Given the description of an element on the screen output the (x, y) to click on. 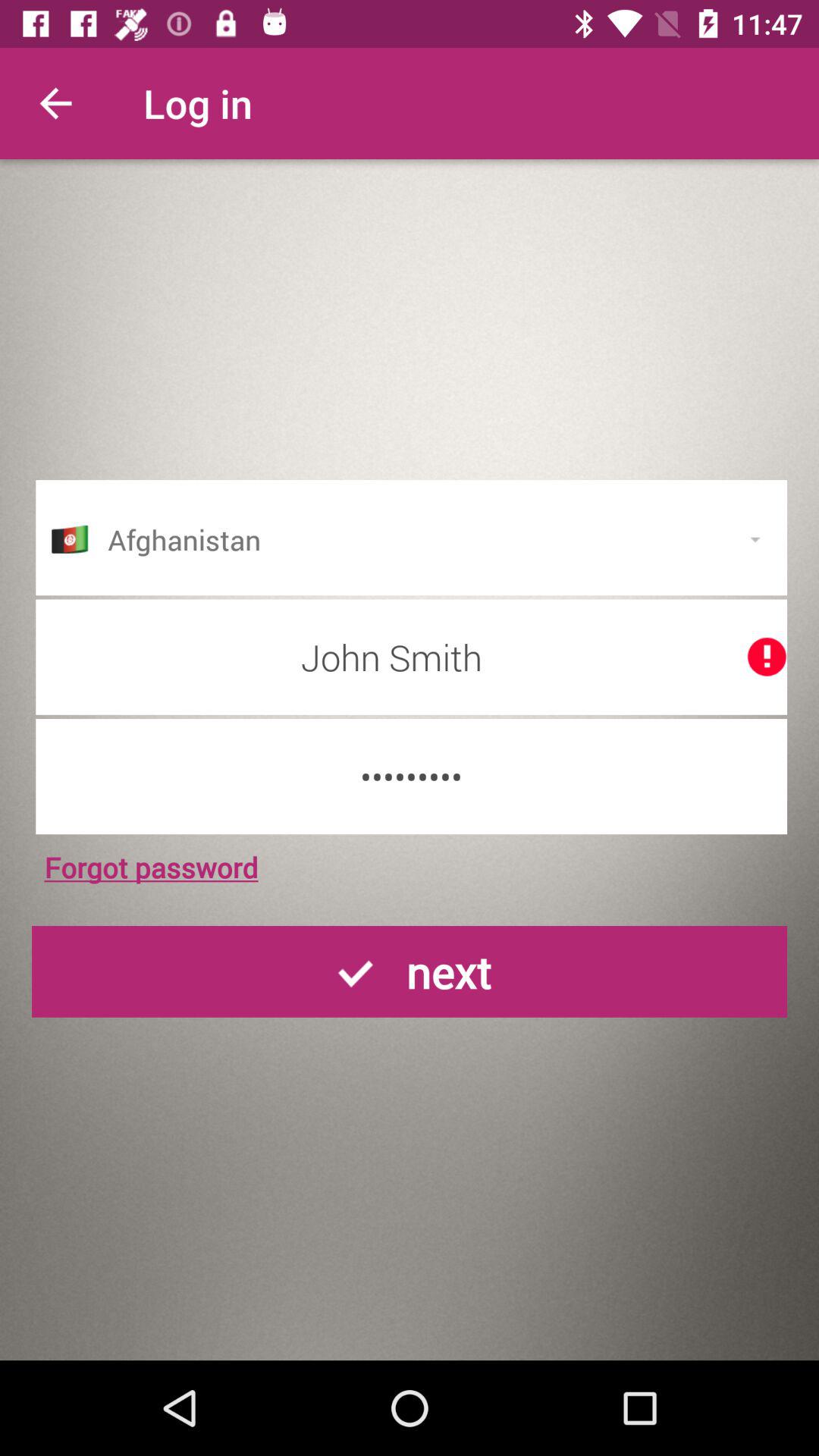
select icon above the afghanistan (55, 103)
